Given the description of an element on the screen output the (x, y) to click on. 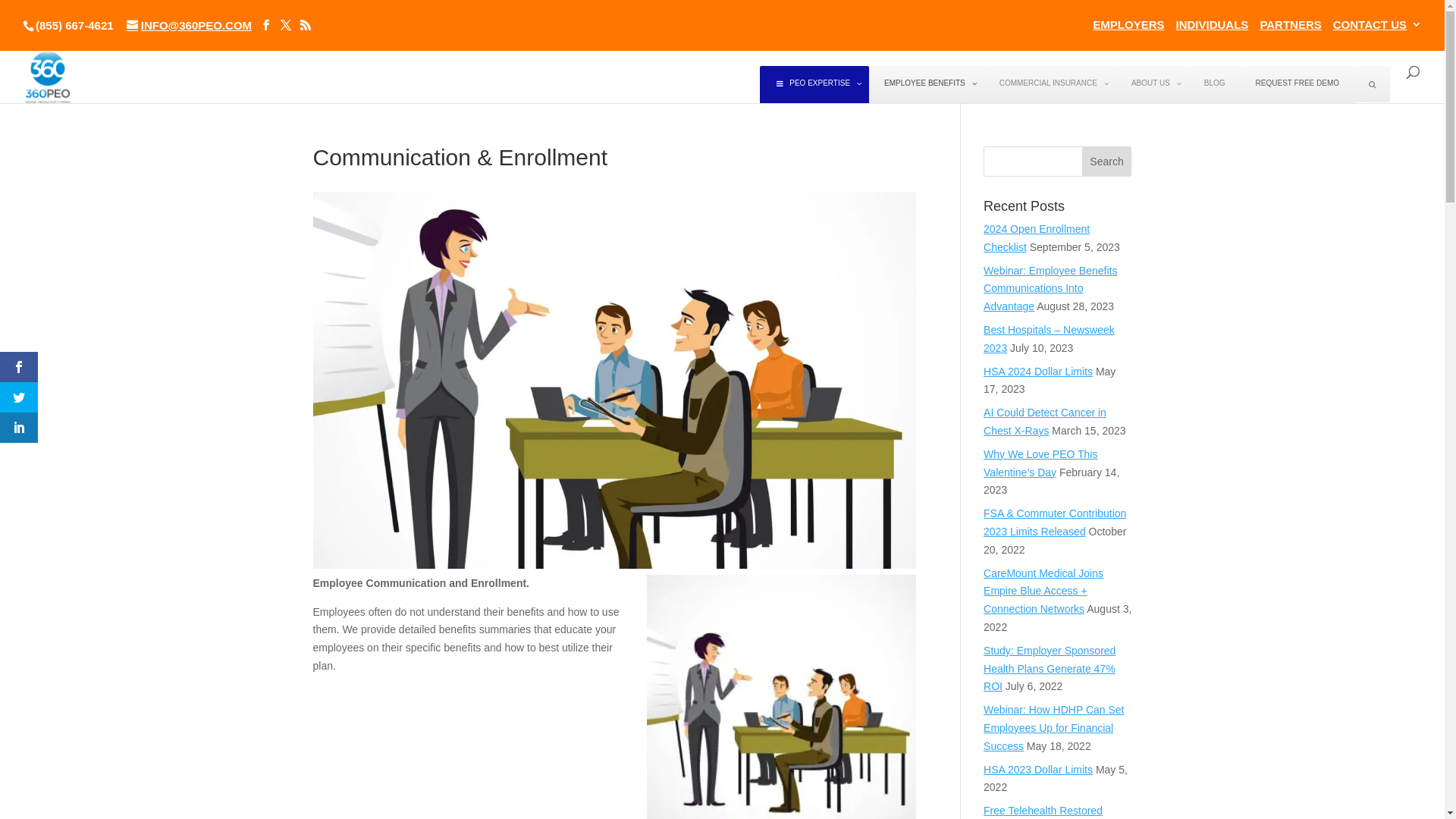
BLOG Element type: text (1214, 84)
REQUEST FREE DEMO Element type: text (1297, 84)
PEO EXPERTISE Element type: text (814, 84)
INFO@360PEO.COM Element type: text (188, 24)
CONTACT US Element type: text (1377, 28)
Webinar: How HDHP Can Set Employees Up for Financial Success Element type: text (1053, 727)
EMPLOYERS Element type: text (1128, 28)
COMMERCIAL INSURANCE Element type: text (1050, 84)
AI Could Detect Cancer in Chest X-Rays Element type: text (1044, 421)
Webinar: Employee Benefits Communications Into Advantage Element type: text (1050, 288)
EMPLOYEE BENEFITS Element type: text (926, 84)
ABOUT US Element type: text (1152, 84)
HSA 2024 Dollar Limits Element type: text (1037, 371)
PARTNERS Element type: text (1290, 28)
FSA & Commuter Contribution 2023 Limits Released Element type: text (1054, 522)
Study: Employer Sponsored Health Plans Generate 47% ROI Element type: text (1049, 668)
Search Element type: text (1107, 161)
HSA 2023 Dollar Limits Element type: text (1037, 769)
2024 Open Enrollment Checklist Element type: text (1036, 237)
INDIVIDUALS Element type: text (1212, 28)
